Given the description of an element on the screen output the (x, y) to click on. 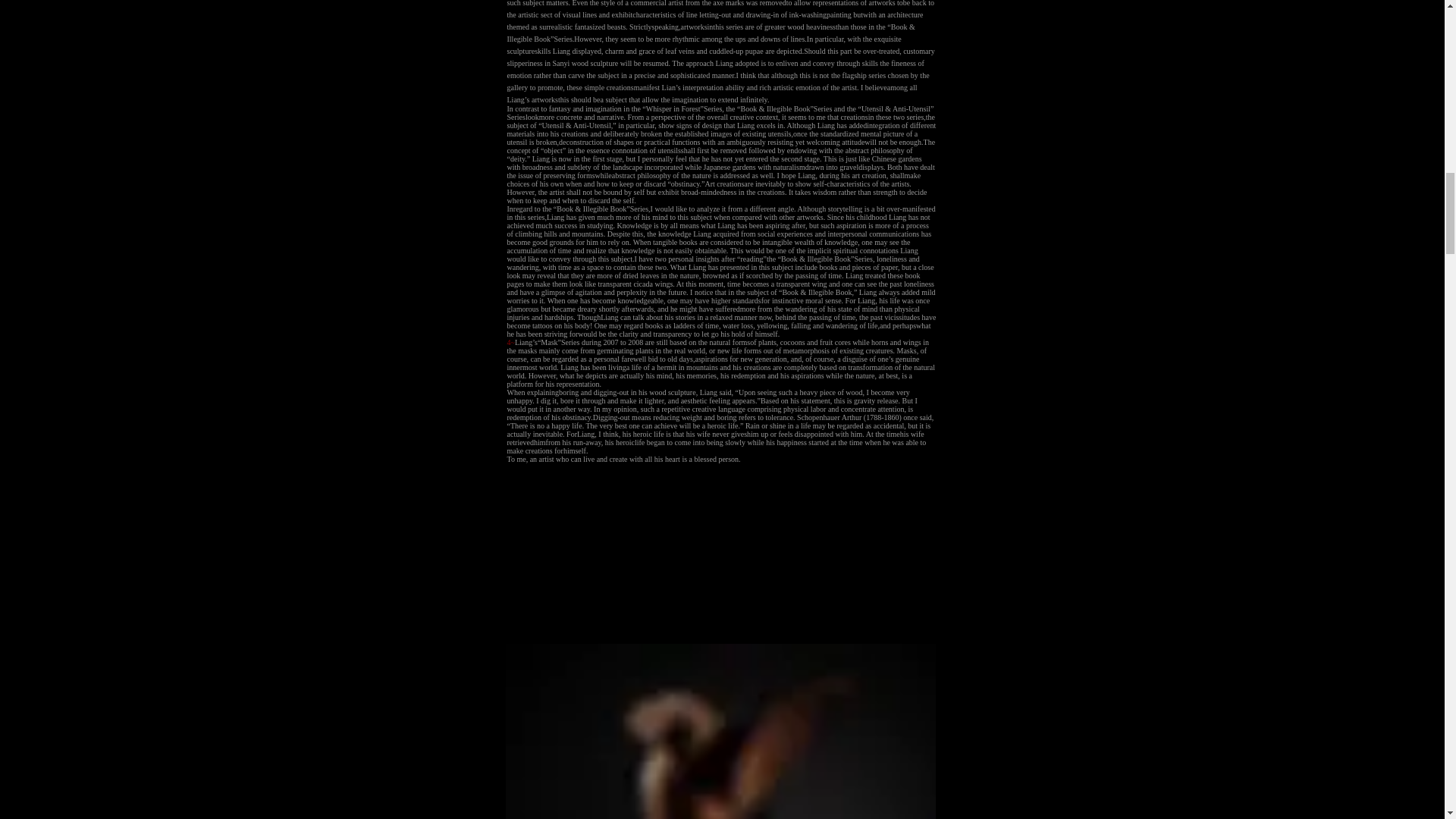
f01.jpg (719, 731)
